Given the description of an element on the screen output the (x, y) to click on. 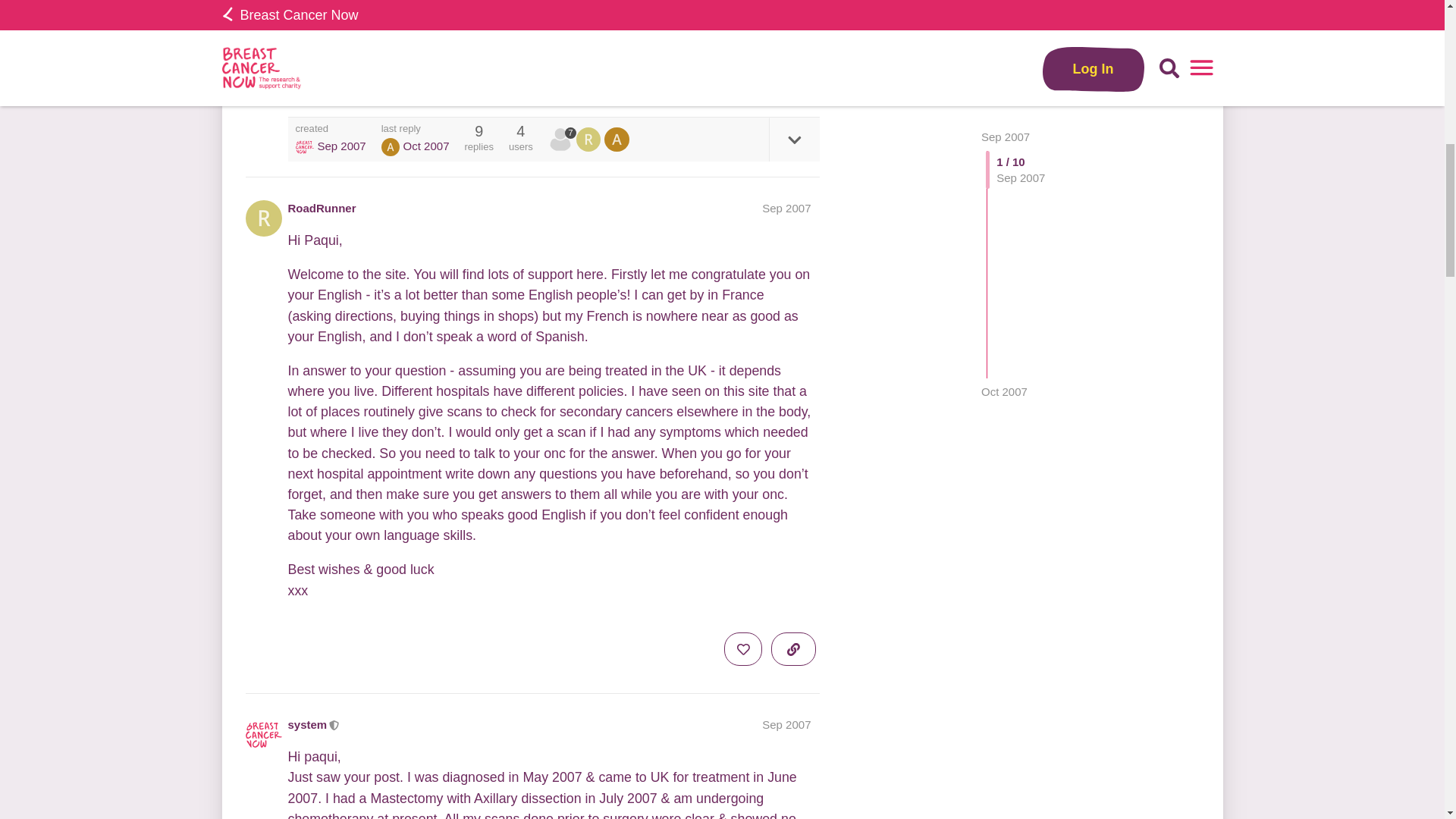
copy a link to this post to clipboard (793, 72)
system (307, 724)
system (304, 147)
21 Sep 2007 07:21 (341, 145)
7 (562, 139)
20 Oct 2007 08:31 (1004, 20)
Sep 2007 (785, 724)
Angelfalls (389, 147)
Oct 2007 (1004, 20)
last reply (415, 128)
